Given the description of an element on the screen output the (x, y) to click on. 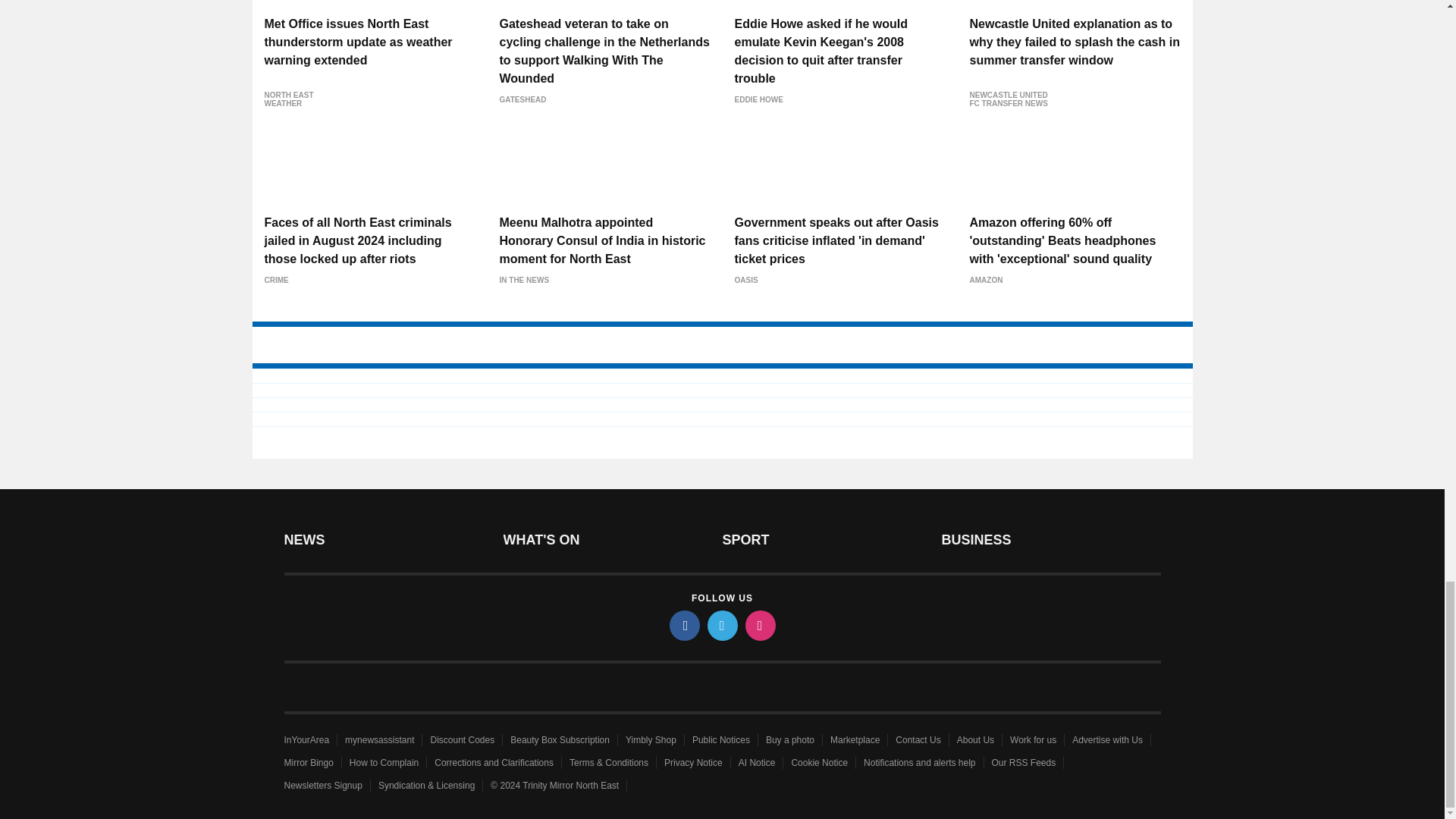
facebook (683, 625)
instagram (759, 625)
twitter (721, 625)
